Given the description of an element on the screen output the (x, y) to click on. 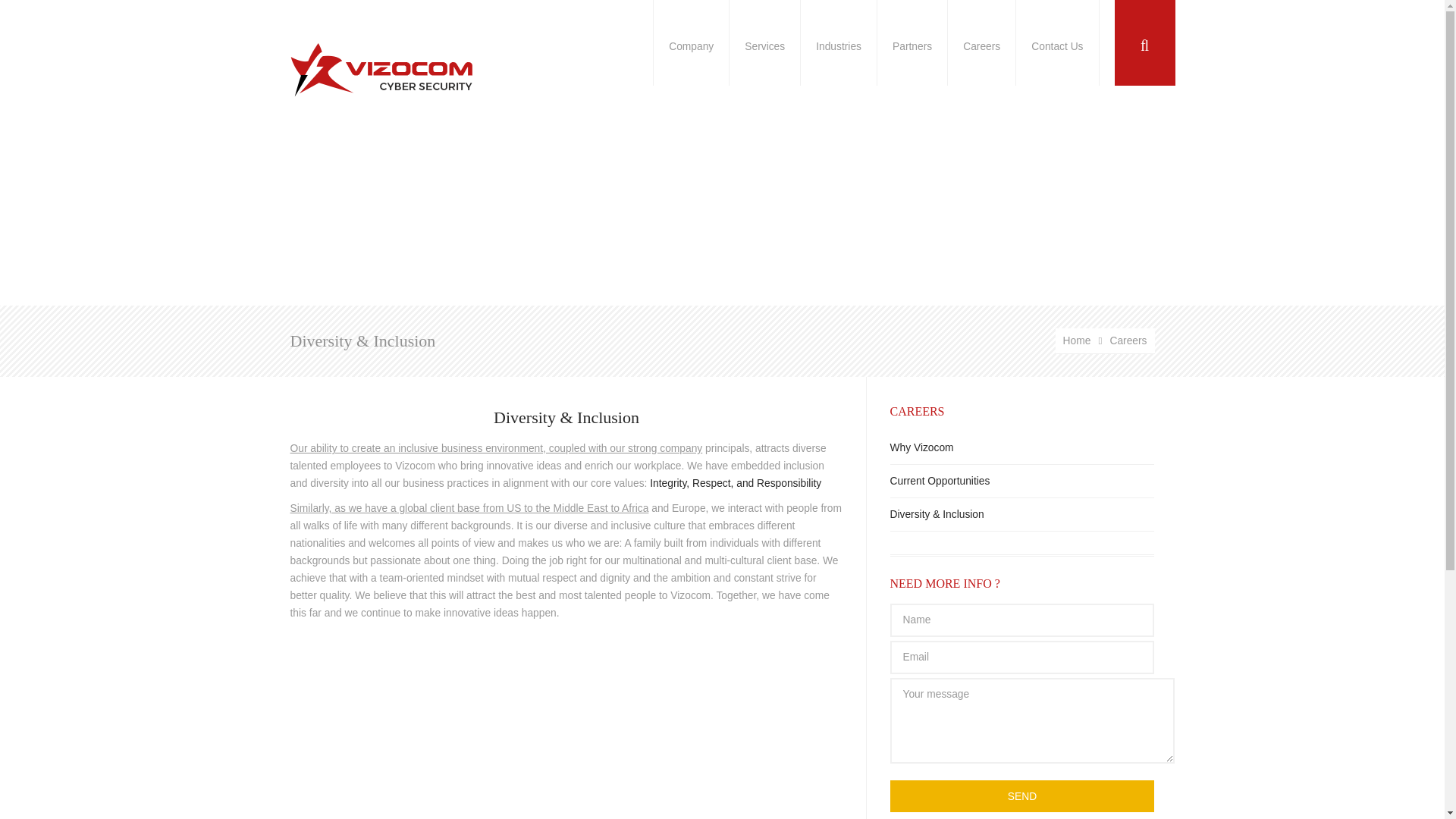
Careers (1128, 340)
Current Opportunities (1021, 481)
Send (1021, 796)
Email (1021, 657)
Name (1021, 620)
Send (1021, 796)
Why Vizocom (1021, 448)
Industries (837, 42)
Contact Us (1056, 42)
Home (1085, 340)
